Given the description of an element on the screen output the (x, y) to click on. 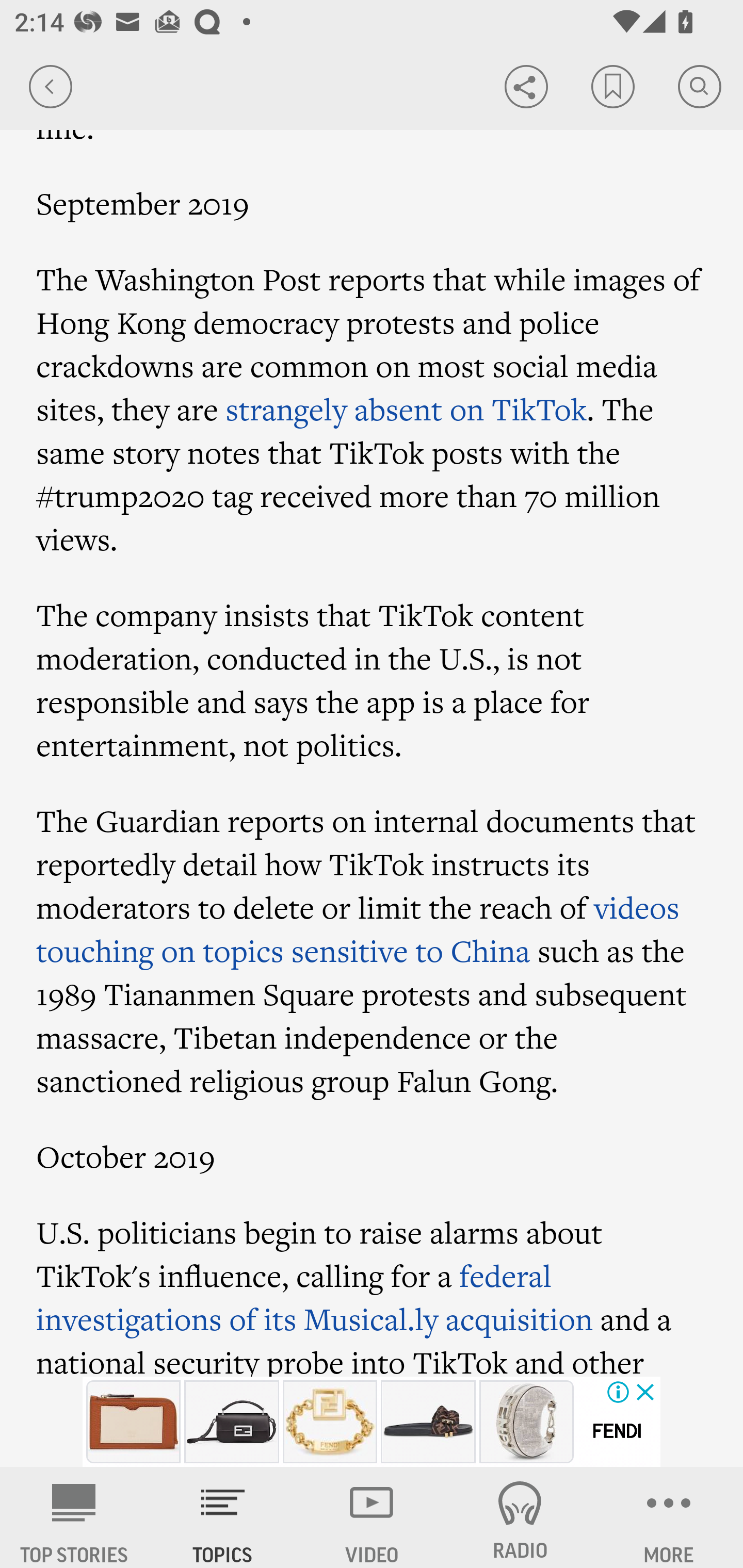
strangely absent on TikTok (405, 408)
videos touching on topics sensitive to China (358, 927)
fendi-feel-brown-satin-slides-8x8142ae7sf0r7v (428, 1420)
AP News TOP STORIES (74, 1517)
TOPICS (222, 1517)
VIDEO (371, 1517)
RADIO (519, 1517)
MORE (668, 1517)
